Given the description of an element on the screen output the (x, y) to click on. 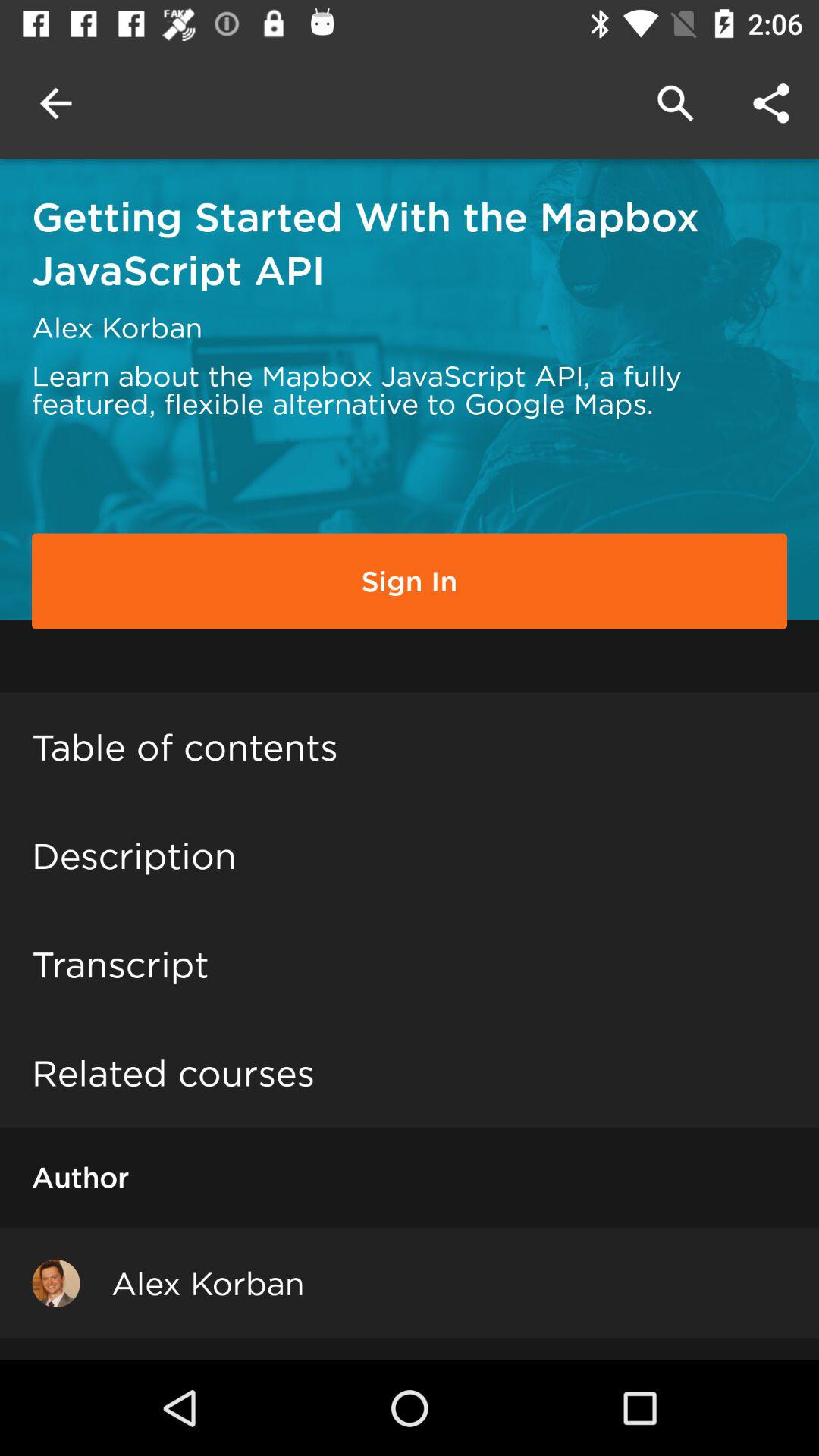
click item below the author (55, 1282)
